Given the description of an element on the screen output the (x, y) to click on. 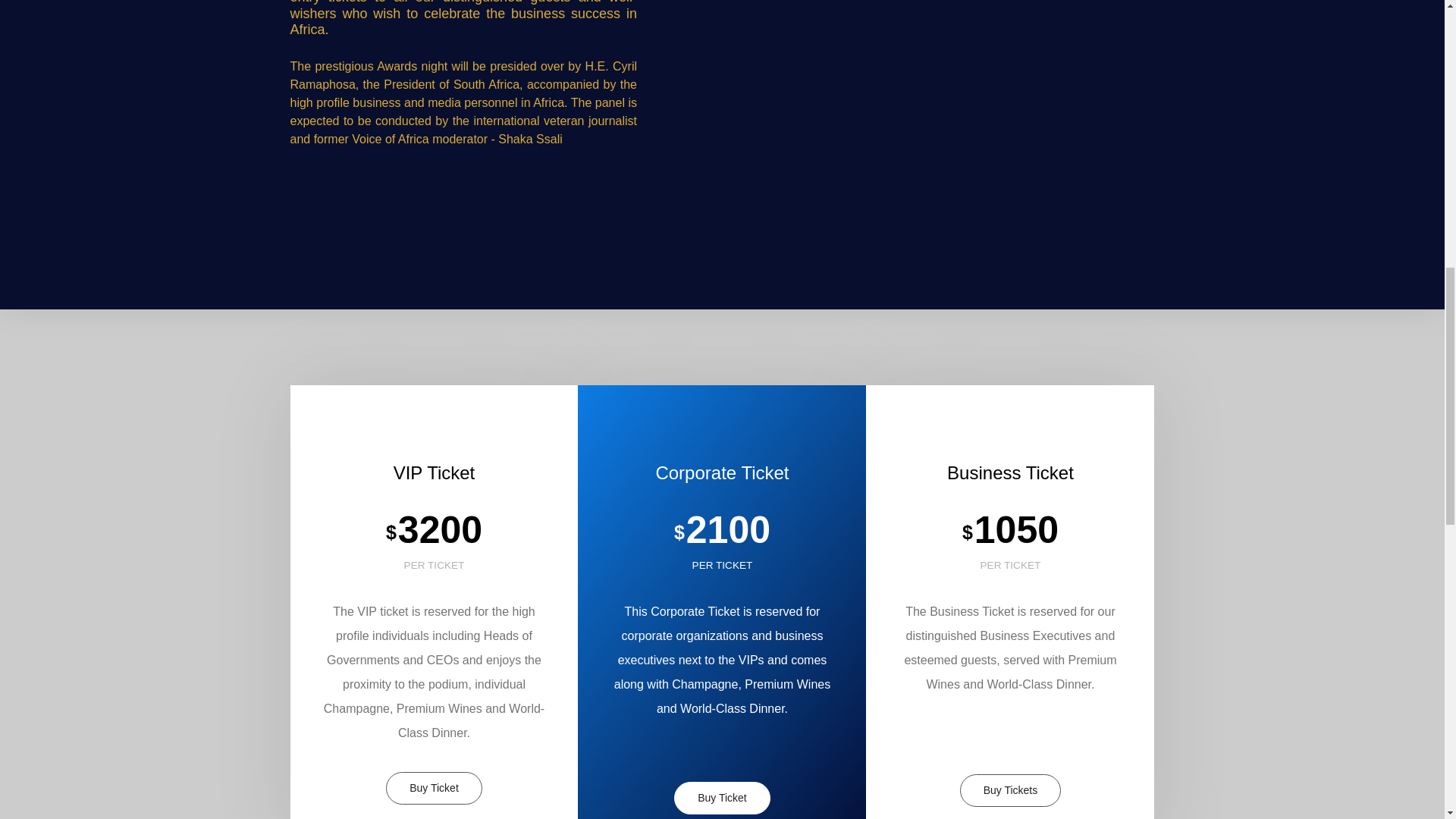
Buy Ticket (722, 798)
Buy Ticket (433, 788)
Buy Tickets (1010, 789)
